Given the description of an element on the screen output the (x, y) to click on. 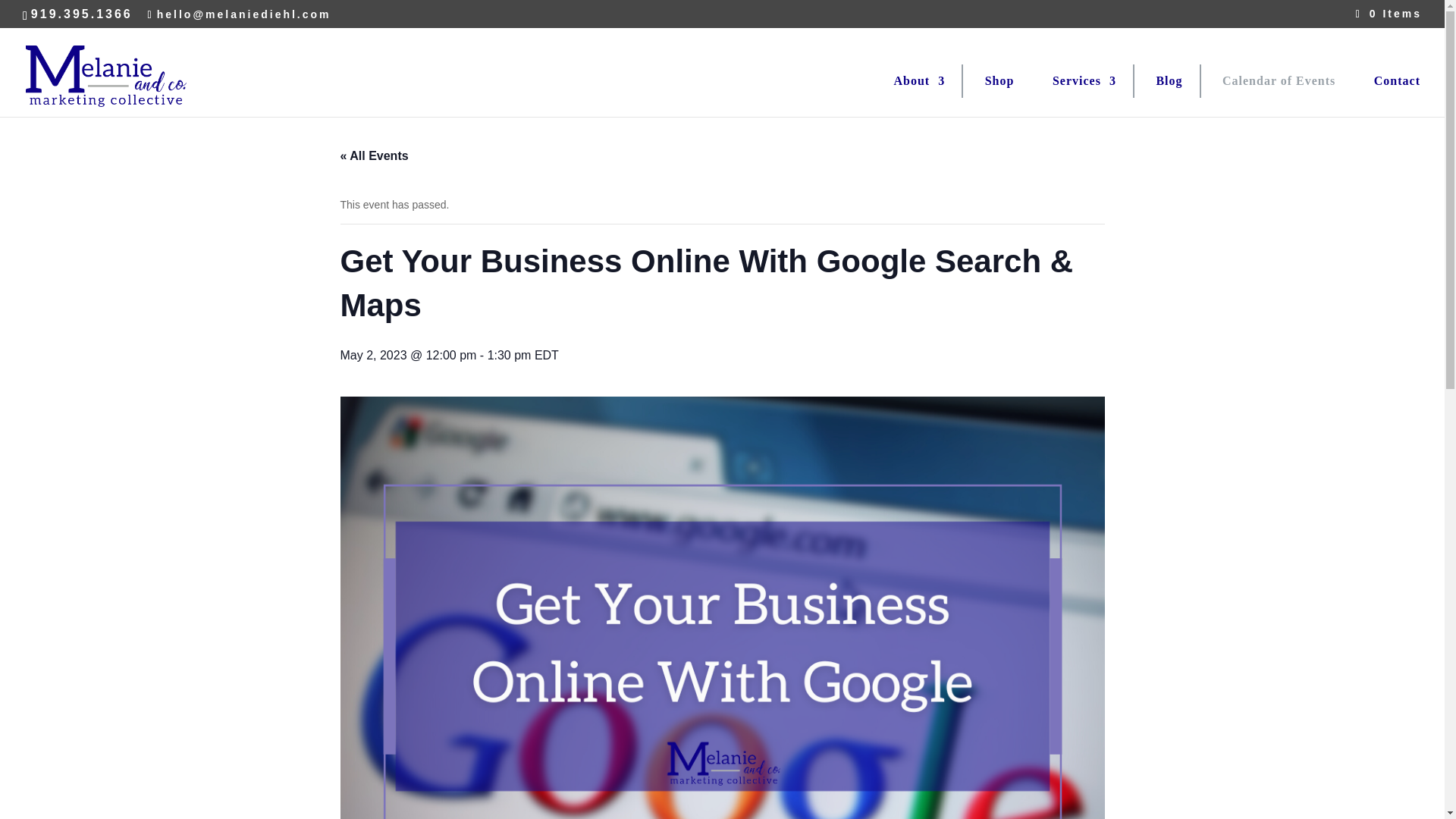
Shop (990, 80)
Contact (1388, 80)
Calendar of Events (1269, 80)
Services (1074, 80)
About (909, 80)
Blog (1159, 80)
0 Items (1388, 13)
